Given the description of an element on the screen output the (x, y) to click on. 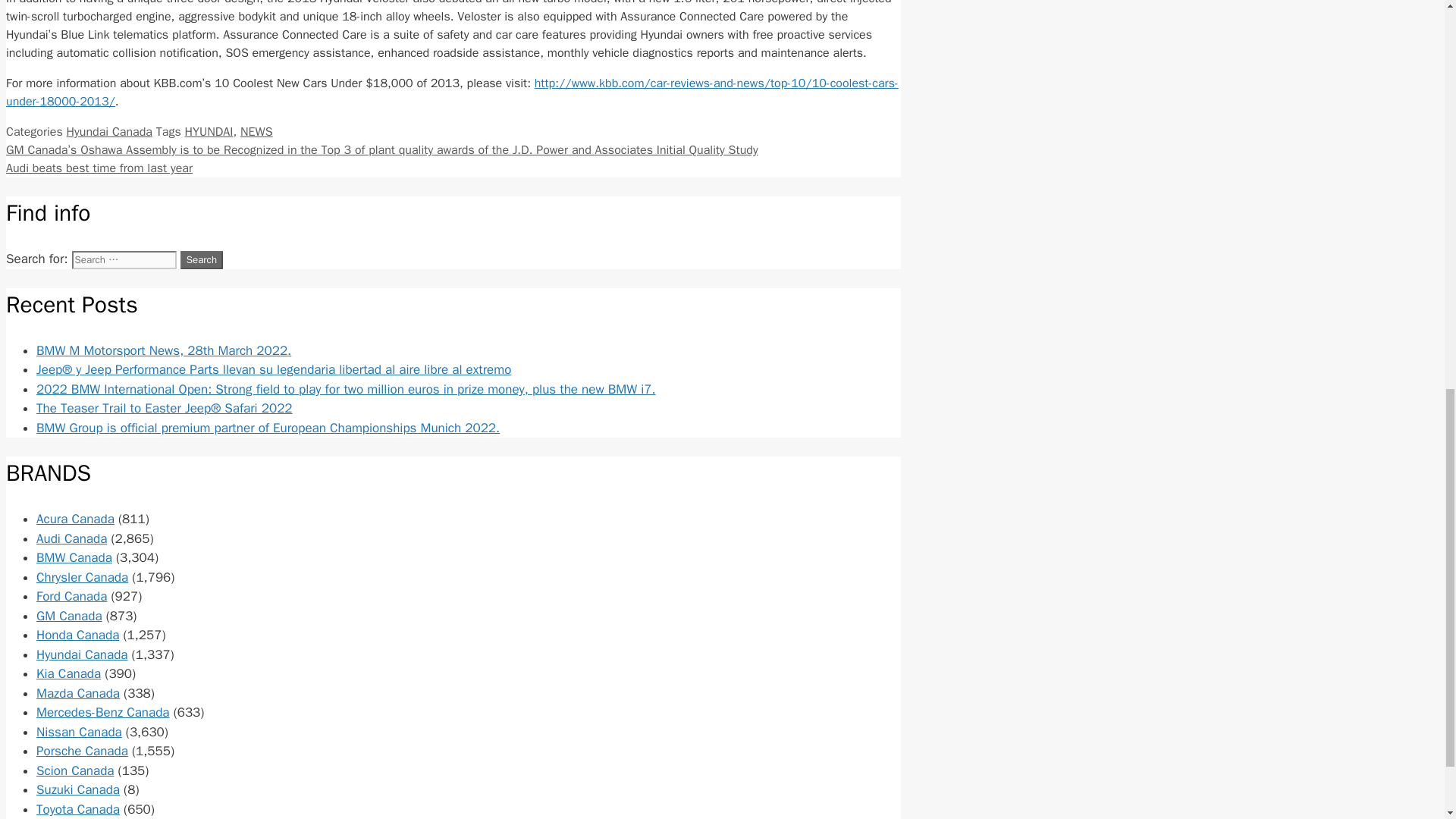
Mercedes-Benz Canada (103, 712)
Search for: (123, 259)
Audi beats best time from last year (98, 168)
Search (201, 259)
Kia Canada (68, 673)
Chrysler Canada (82, 577)
GM Canada (68, 616)
Hyundai Canada (82, 654)
Search (201, 259)
Nissan Canada (79, 731)
Scion Canada (75, 770)
NEWS (256, 131)
BMW M Motorsport News, 28th March 2022. (163, 350)
Porsche Canada (82, 750)
